Given the description of an element on the screen output the (x, y) to click on. 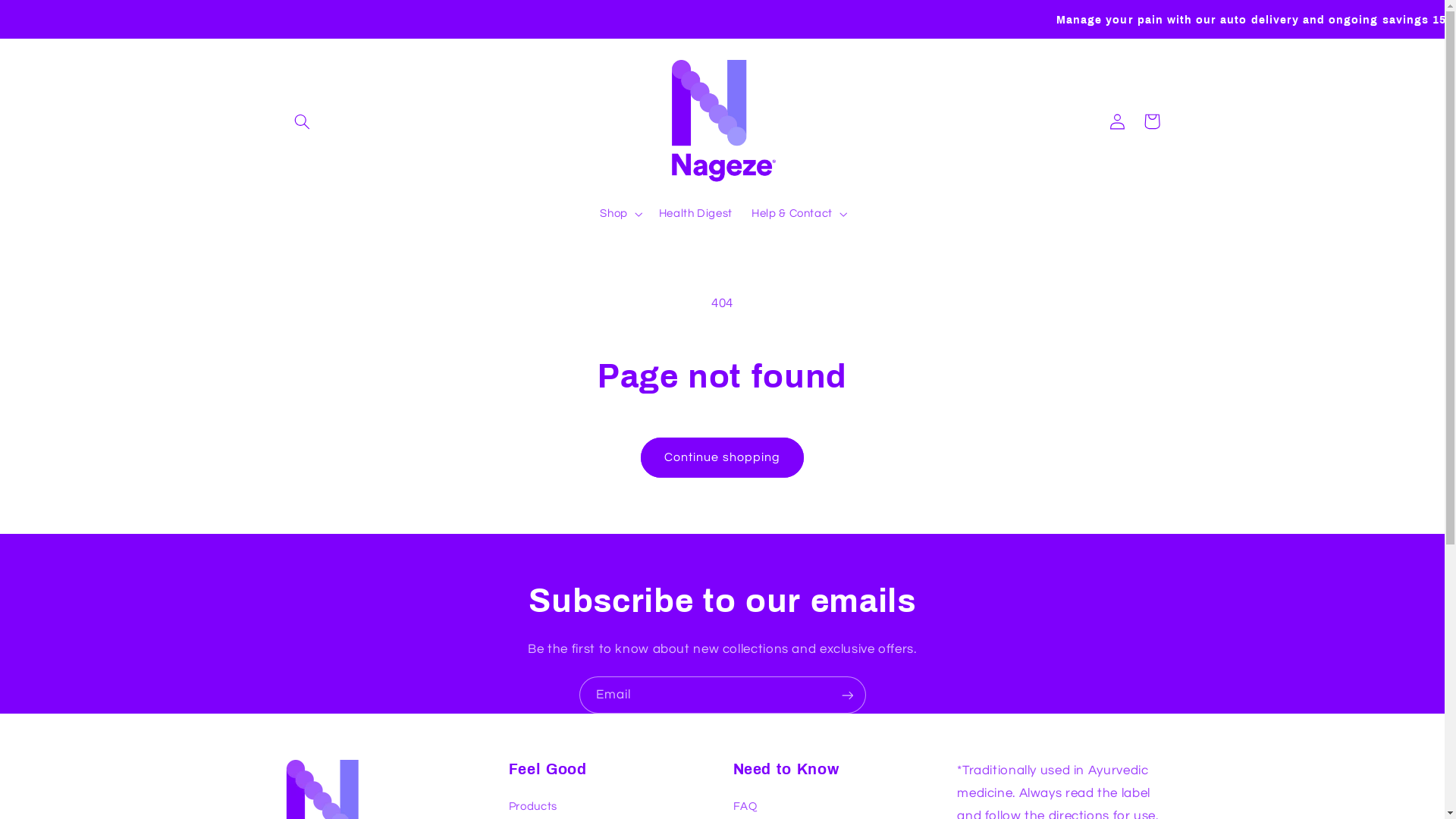
Log in Element type: text (1116, 120)
Continue shopping Element type: text (722, 457)
Health Digest Element type: text (695, 213)
Cart Element type: text (1151, 120)
